Given the description of an element on the screen output the (x, y) to click on. 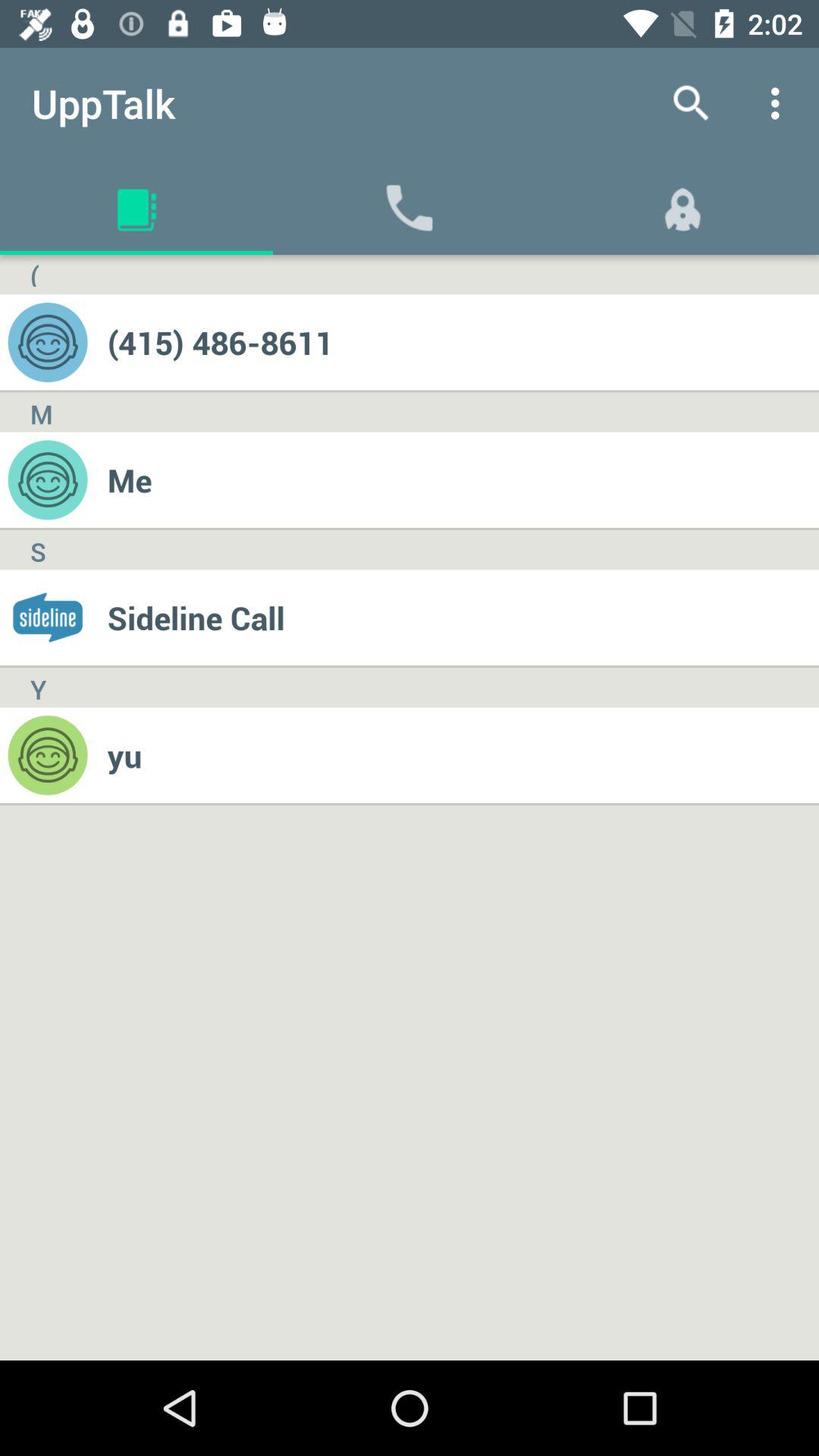
select the icon which is  right to call option (682, 207)
select the icon which is right to the search icon (779, 103)
click on the icon which is left to the phone icon (136, 207)
select phone icon (409, 207)
